Given the description of an element on the screen output the (x, y) to click on. 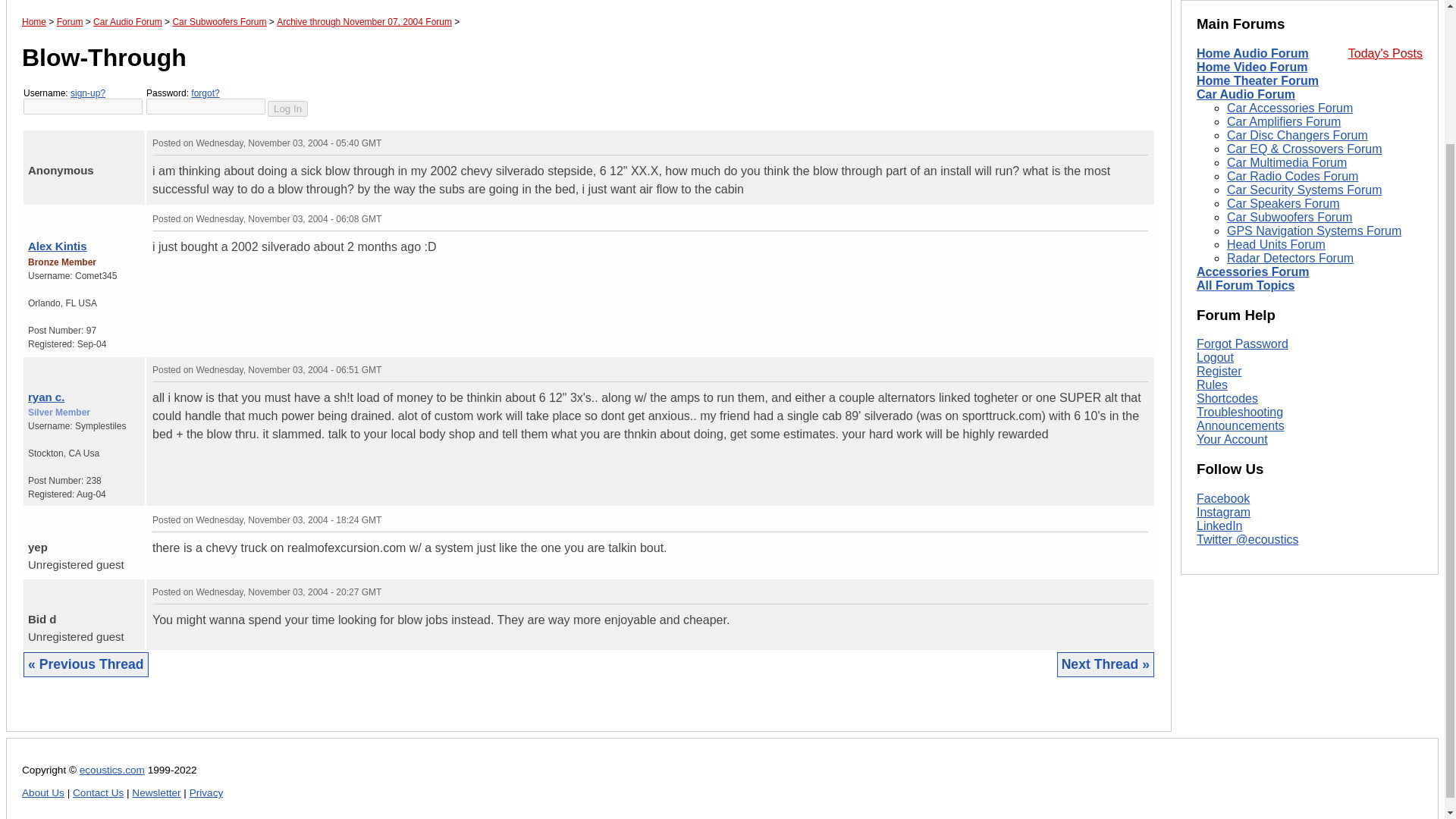
link to this post (68, 139)
Car Audio Forum (127, 21)
link to this post (76, 215)
Log In (287, 108)
top of page (32, 215)
Edit Post (1140, 218)
top of page (32, 516)
Forgot your password? (204, 92)
last post (50, 139)
Log In (287, 108)
